Given the description of an element on the screen output the (x, y) to click on. 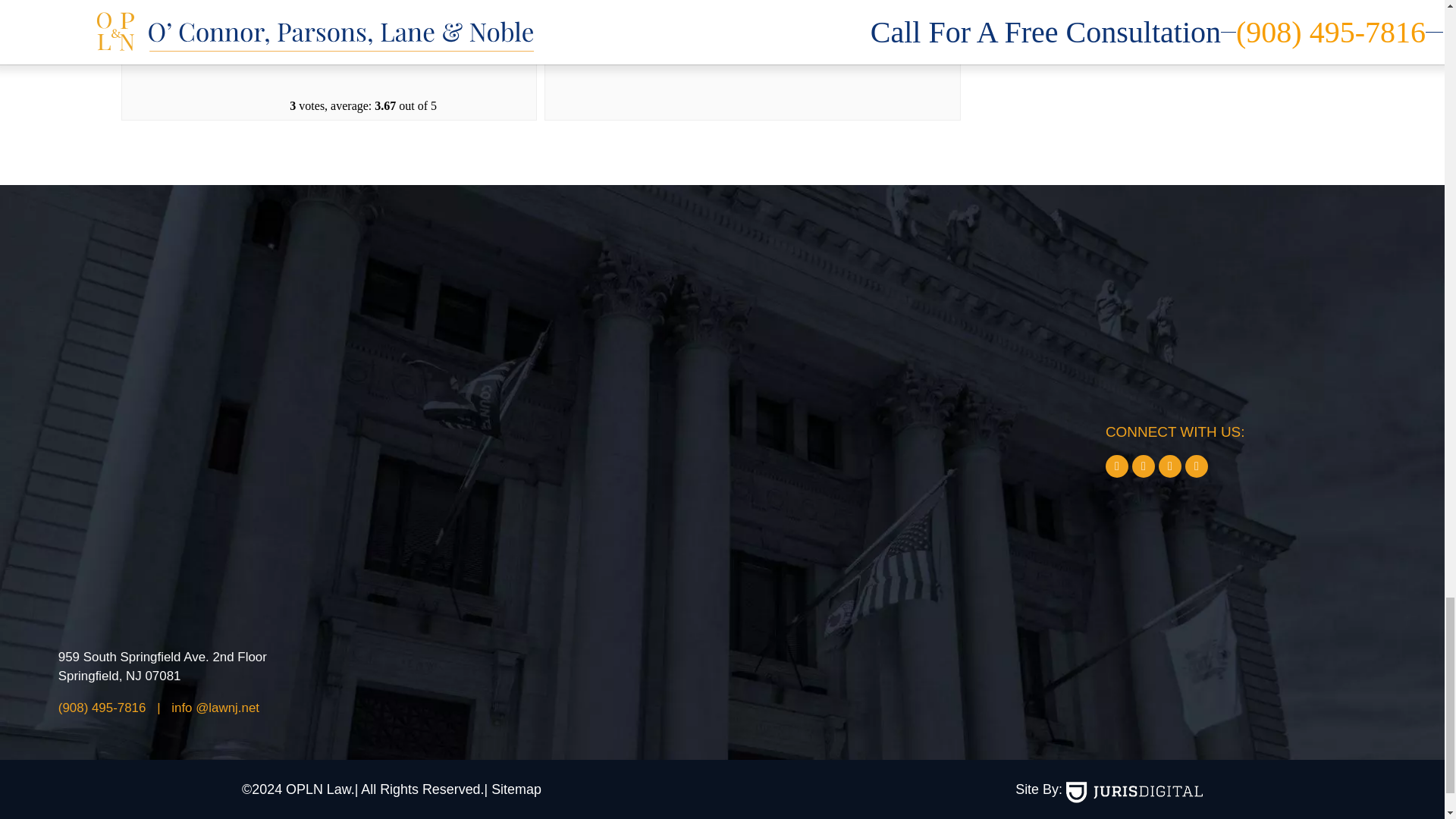
Site by Juris Digital Law Firm Marketing (1133, 792)
5 Stars (360, 48)
Email (215, 707)
OPLN Law's sitemap (512, 789)
